Given the description of an element on the screen output the (x, y) to click on. 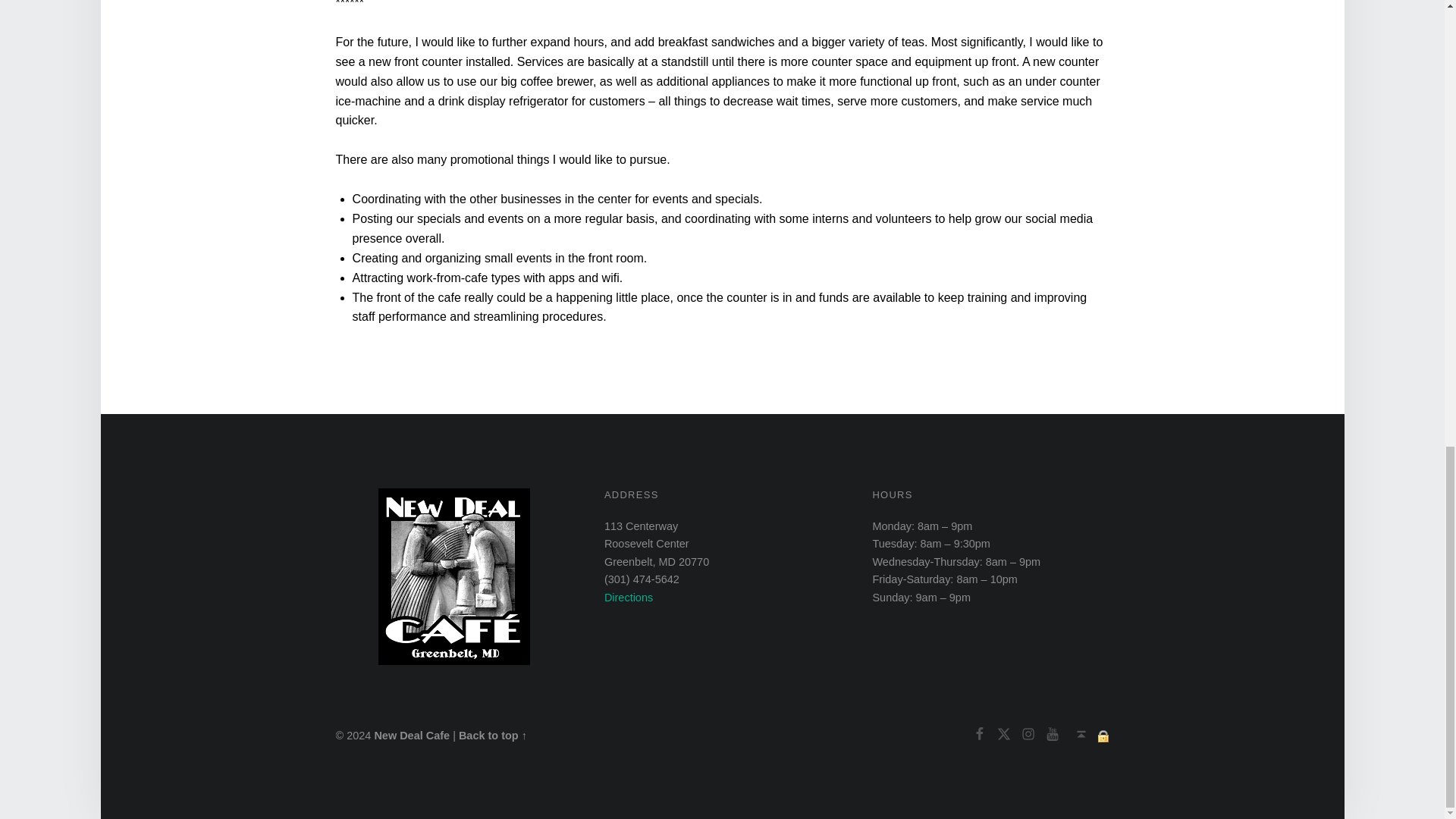
Back to top (1081, 735)
New Deal Cafe (411, 735)
Directions (628, 597)
